Given the description of an element on the screen output the (x, y) to click on. 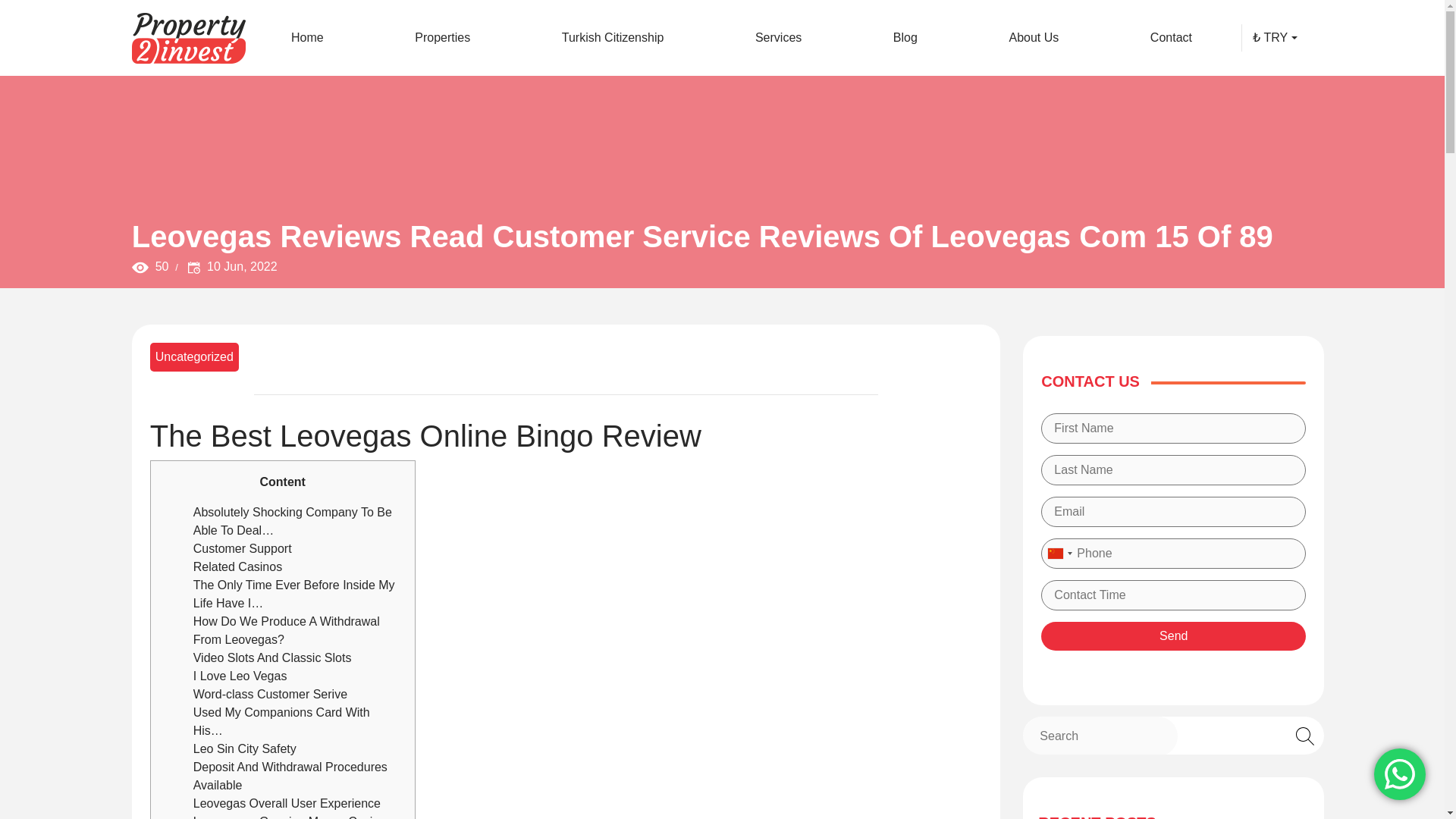
Contact (1171, 37)
Video Slots And Classic Slots (272, 657)
Properties (442, 37)
Related Casinos (237, 566)
How Do We Produce A Withdrawal From Leovegas? (286, 630)
Leovegas Overall User Experience (286, 802)
Uncategorized (193, 356)
Turkish Citizenship (612, 37)
Blog (905, 37)
WhatsApp us (1399, 774)
